Given the description of an element on the screen output the (x, y) to click on. 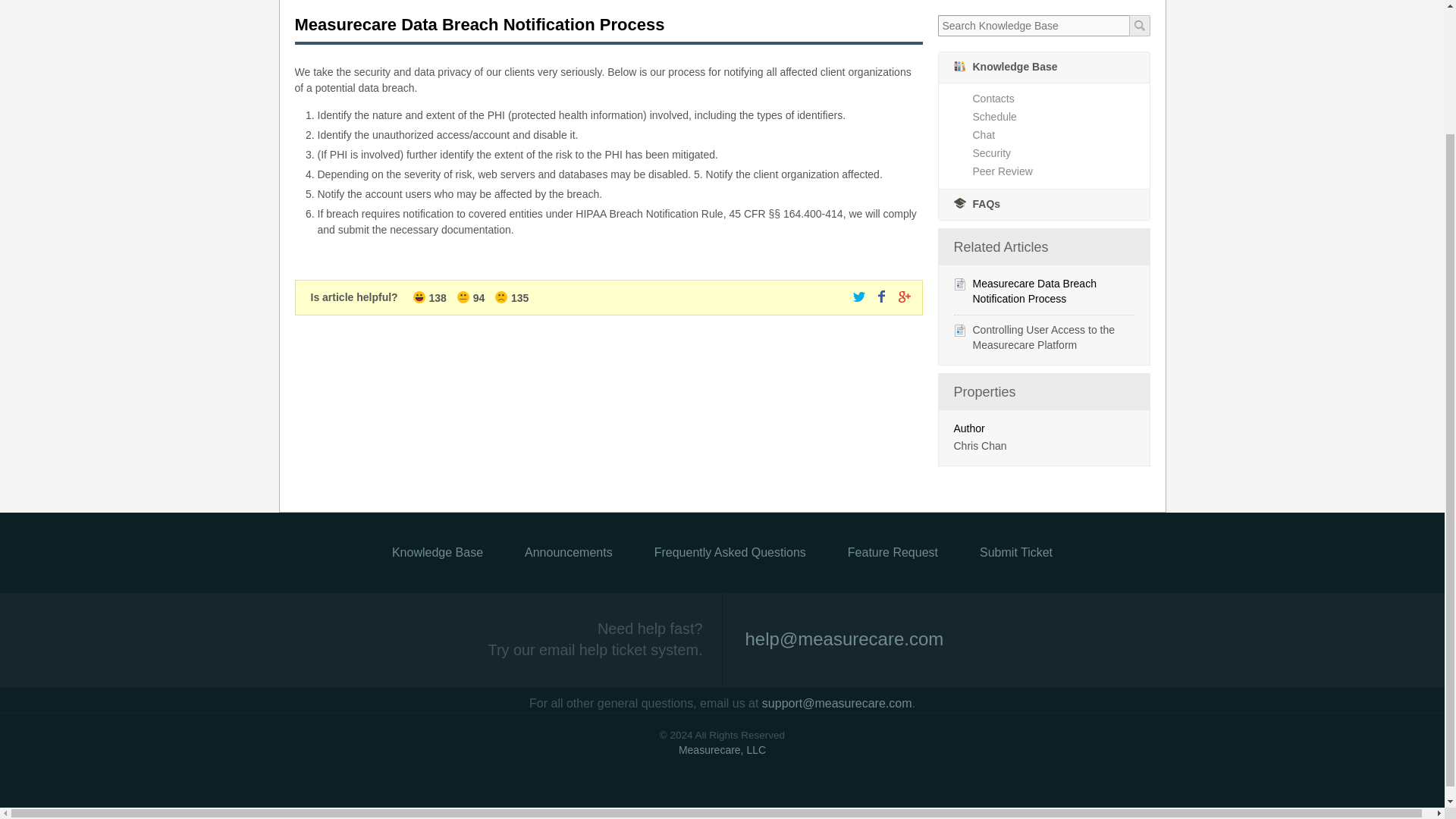
Send email (836, 703)
Chat (1060, 134)
Chris Chan (980, 445)
Frequently Asked Questions (729, 552)
Measurecare Data Breach Notification Process (1034, 290)
138 (431, 297)
Feature Request (892, 552)
Knowledge Base (437, 552)
Send email (838, 621)
135 (511, 297)
FAQs (1044, 204)
Measurecare, LLC (721, 749)
Controlling User Access to the Measurecare Platform (1043, 337)
94 (472, 297)
Knowledge Base (1044, 67)
